Given the description of an element on the screen output the (x, y) to click on. 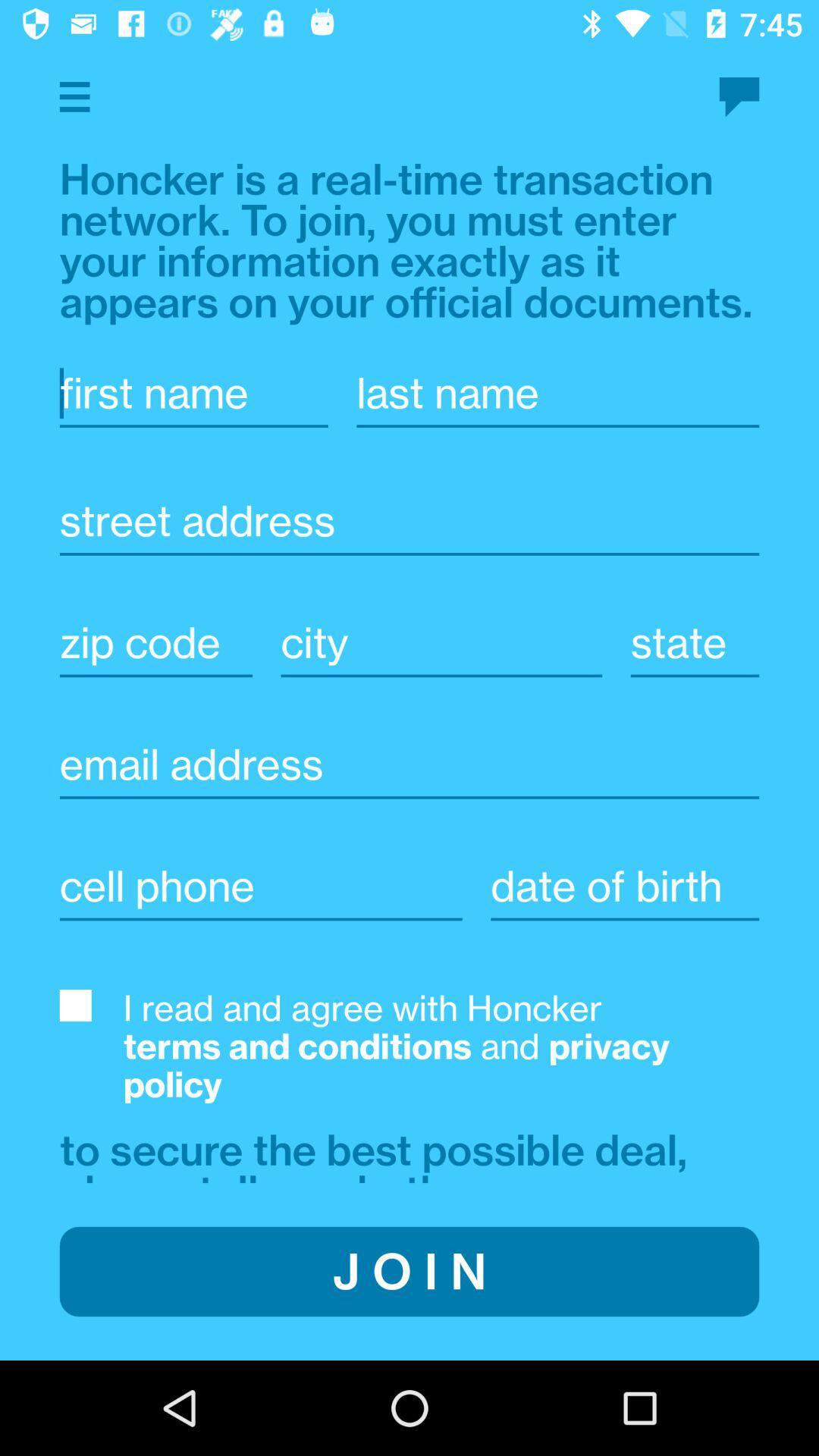
open app menu (74, 96)
